Given the description of an element on the screen output the (x, y) to click on. 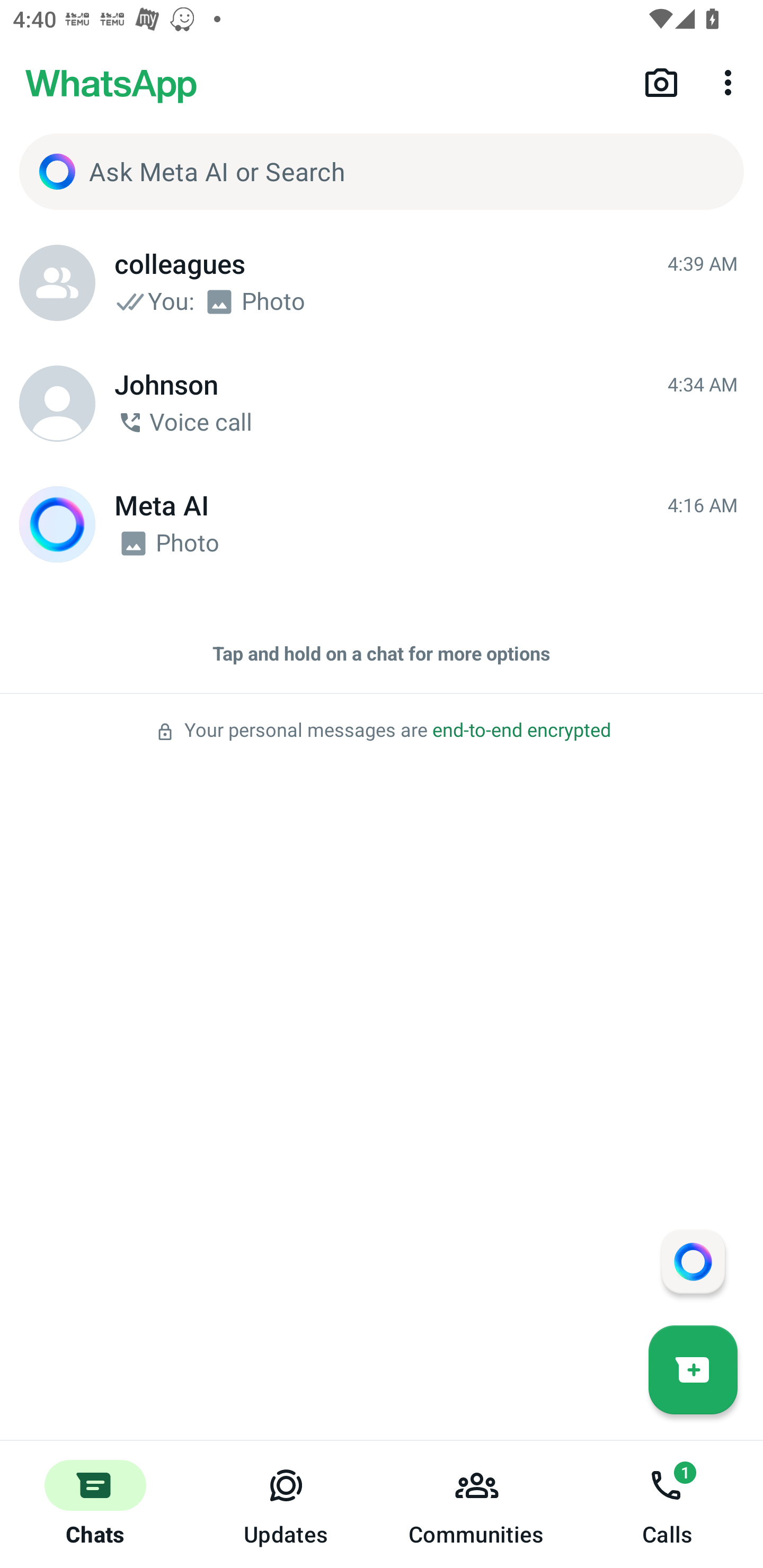
Camera (661, 81)
More options (731, 81)
colleagues colleagues 4:39 AM 4:39 AM You:  Photo (381, 282)
colleagues (57, 282)
Johnson Johnson 4:34 AM 4:34 AM Voice call (381, 403)
Johnson (57, 403)
Meta AI Meta AI 4:16 AM 4:16 AM Photo (381, 524)
Meta AI (57, 524)
end-to-end encrypted (521, 730)
Message your assistant (692, 1261)
New chat (692, 1369)
Updates (285, 1504)
Communities (476, 1504)
Calls, 1 new notification Calls (667, 1504)
